Given the description of an element on the screen output the (x, y) to click on. 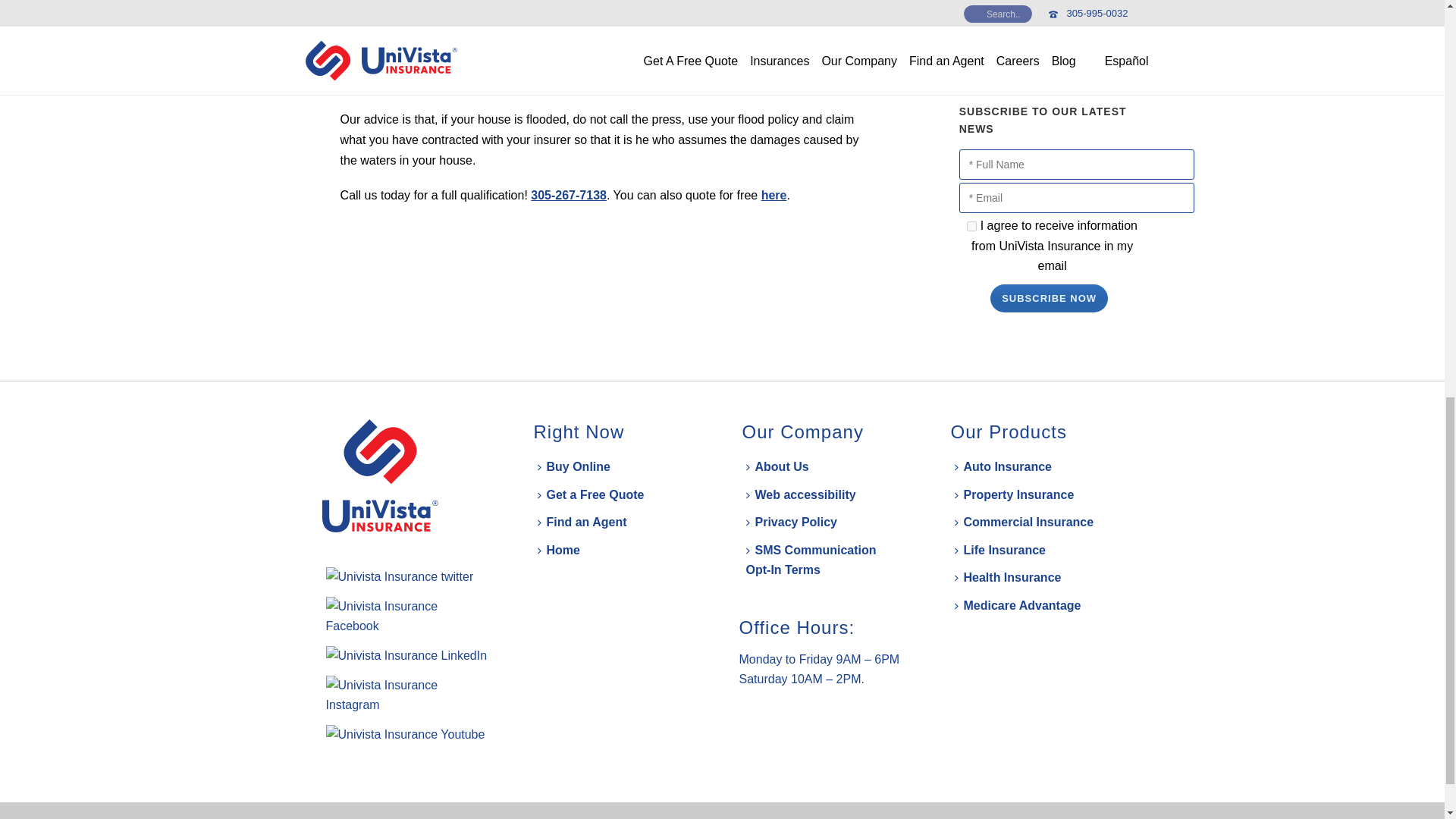
Subscribe Now (1049, 298)
1 (971, 225)
